Given the description of an element on the screen output the (x, y) to click on. 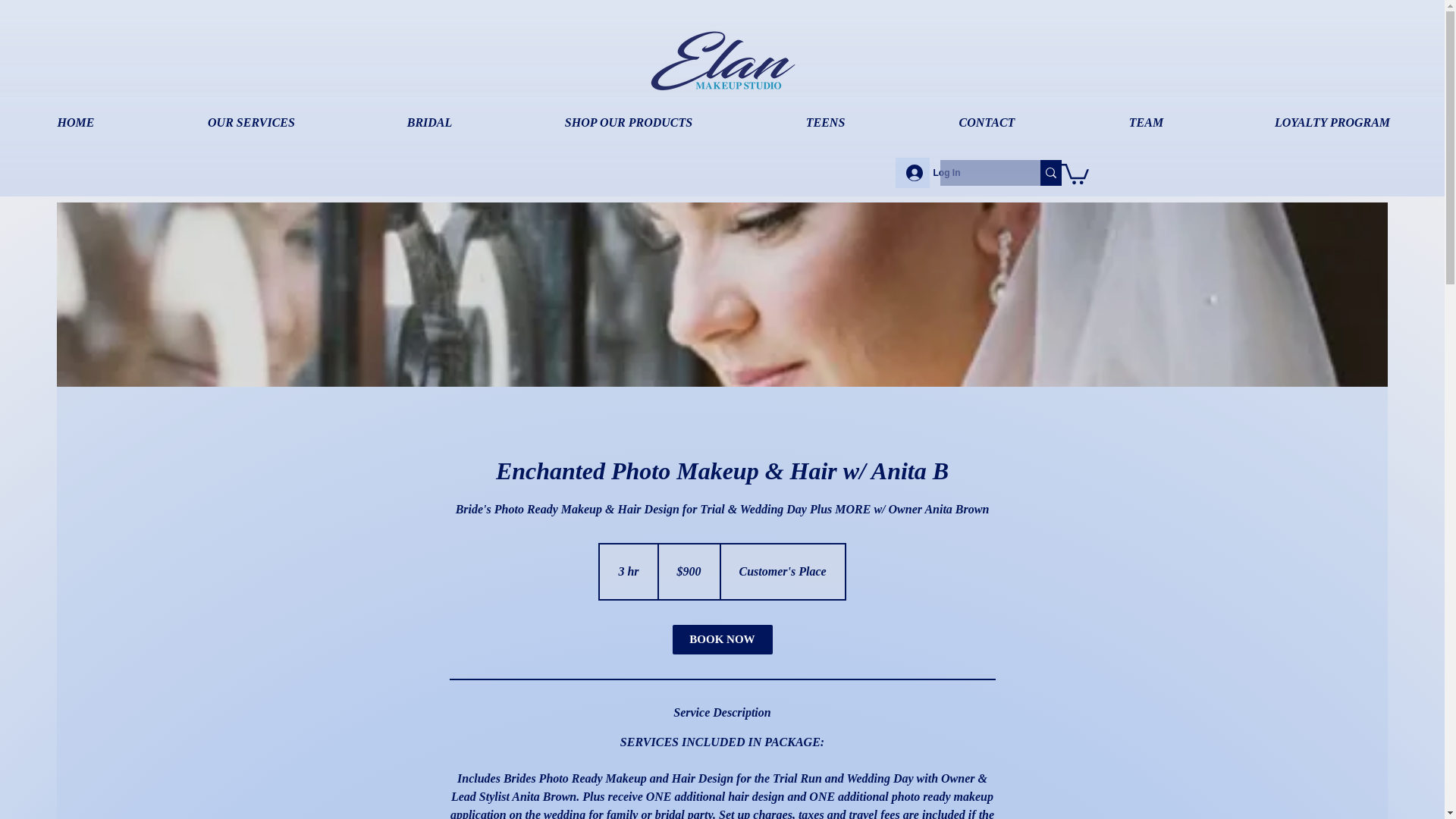
OUR SERVICES (250, 122)
BOOK NOW (721, 639)
Professional Makeup Artit (722, 60)
TEAM (1145, 122)
TEENS (825, 122)
SHOP OUR PRODUCTS (628, 122)
CONTACT (986, 122)
Log In (911, 172)
BRIDAL (429, 122)
HOME (75, 122)
